Given the description of an element on the screen output the (x, y) to click on. 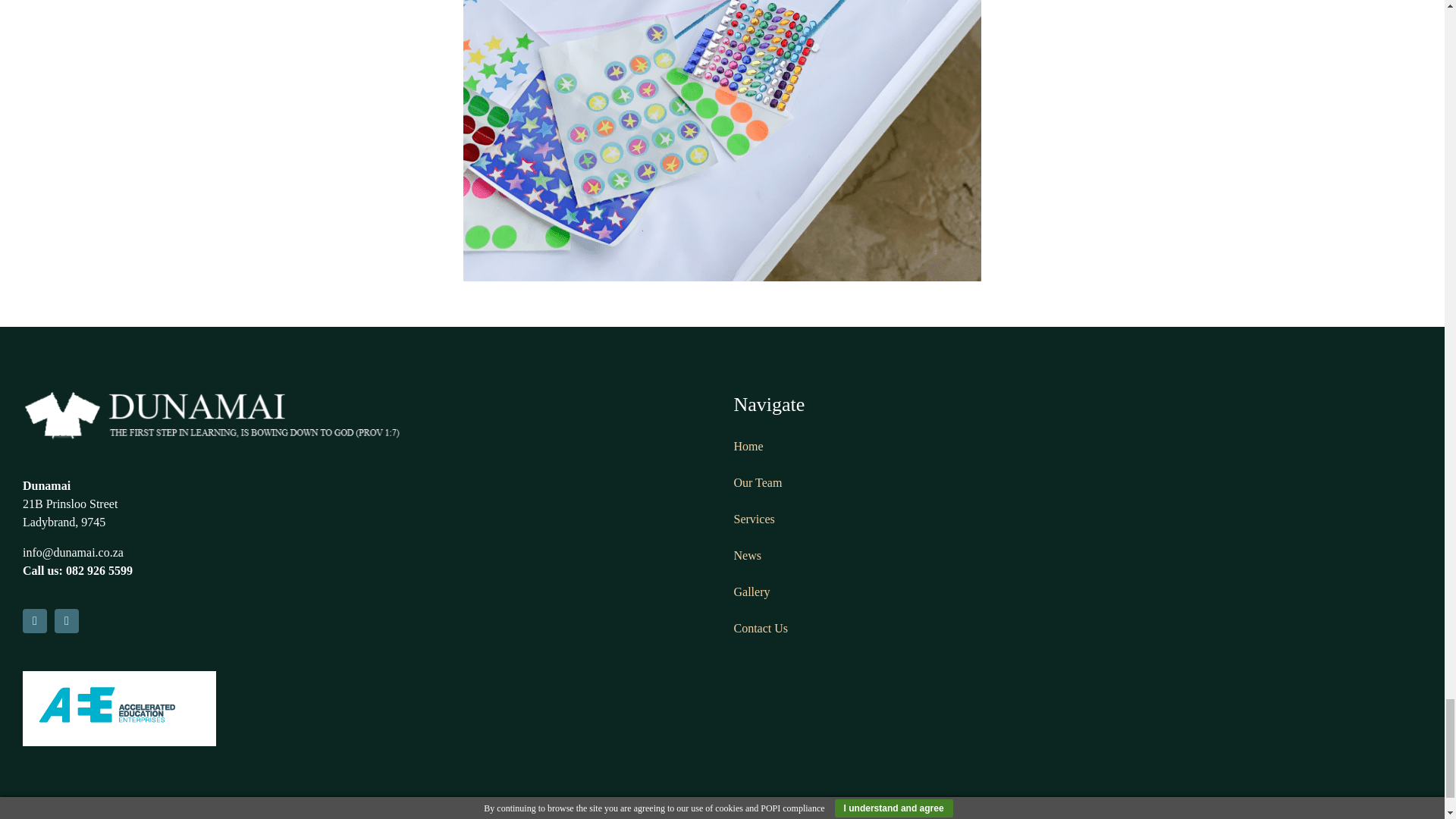
Home (747, 445)
Gallery (751, 591)
Contact Us (761, 627)
Services (753, 518)
WhiteLogo (212, 414)
News (747, 554)
Our Team (758, 481)
